Given the description of an element on the screen output the (x, y) to click on. 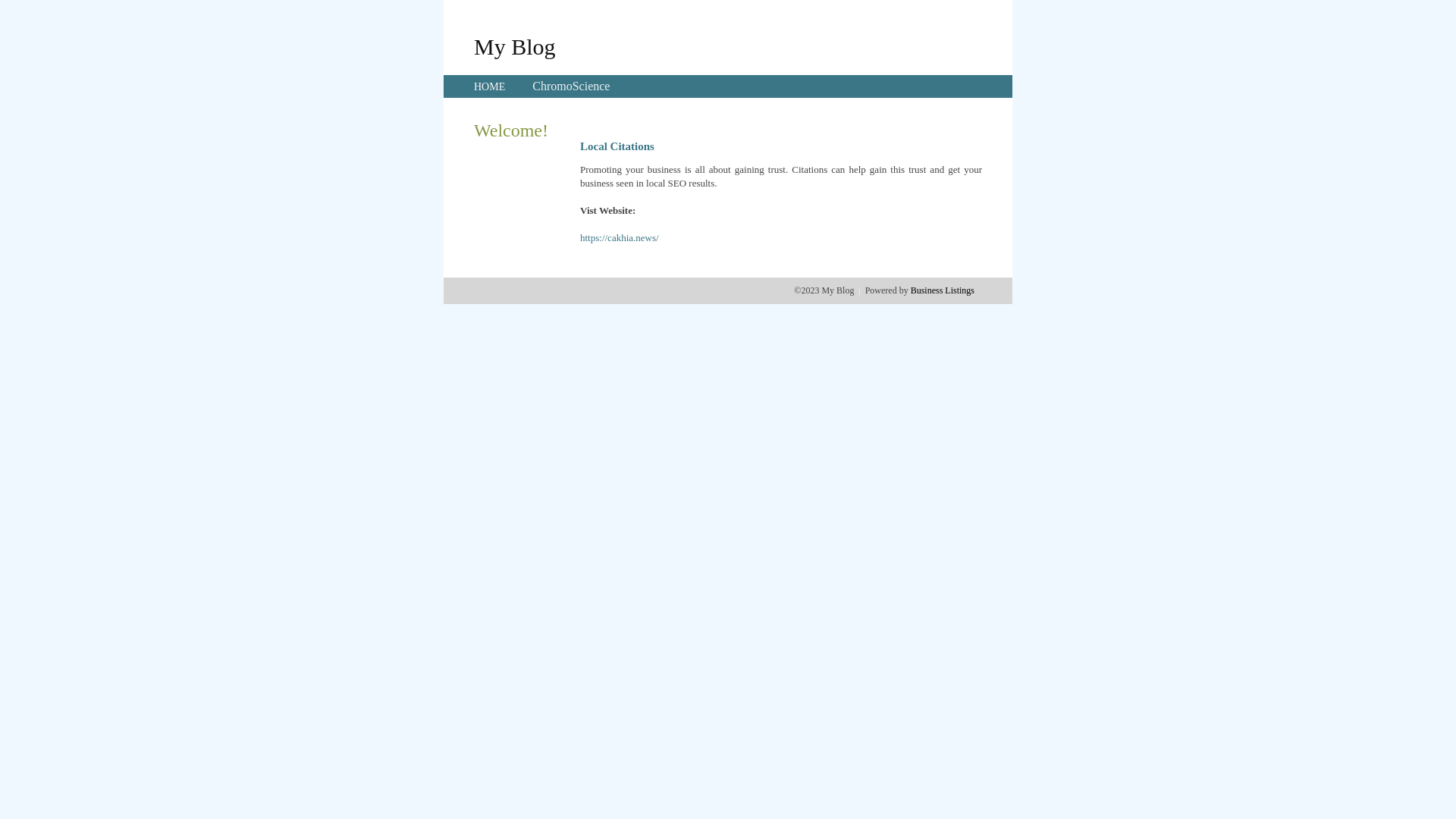
ChromoScience Element type: text (570, 85)
Business Listings Element type: text (942, 290)
My Blog Element type: text (514, 46)
HOME Element type: text (489, 86)
https://cakhia.news/ Element type: text (619, 237)
